Given the description of an element on the screen output the (x, y) to click on. 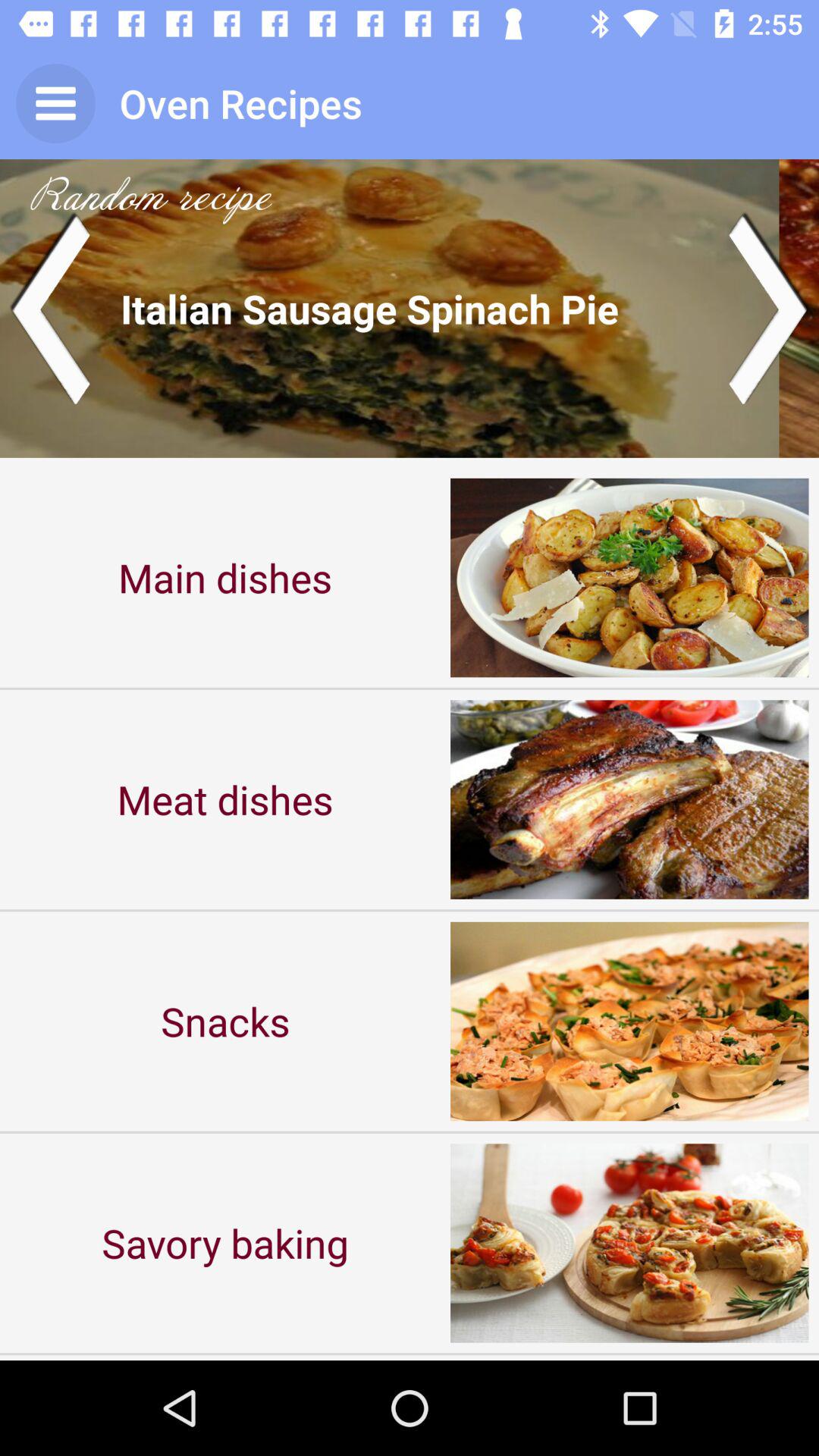
press snacks item (225, 1020)
